Given the description of an element on the screen output the (x, y) to click on. 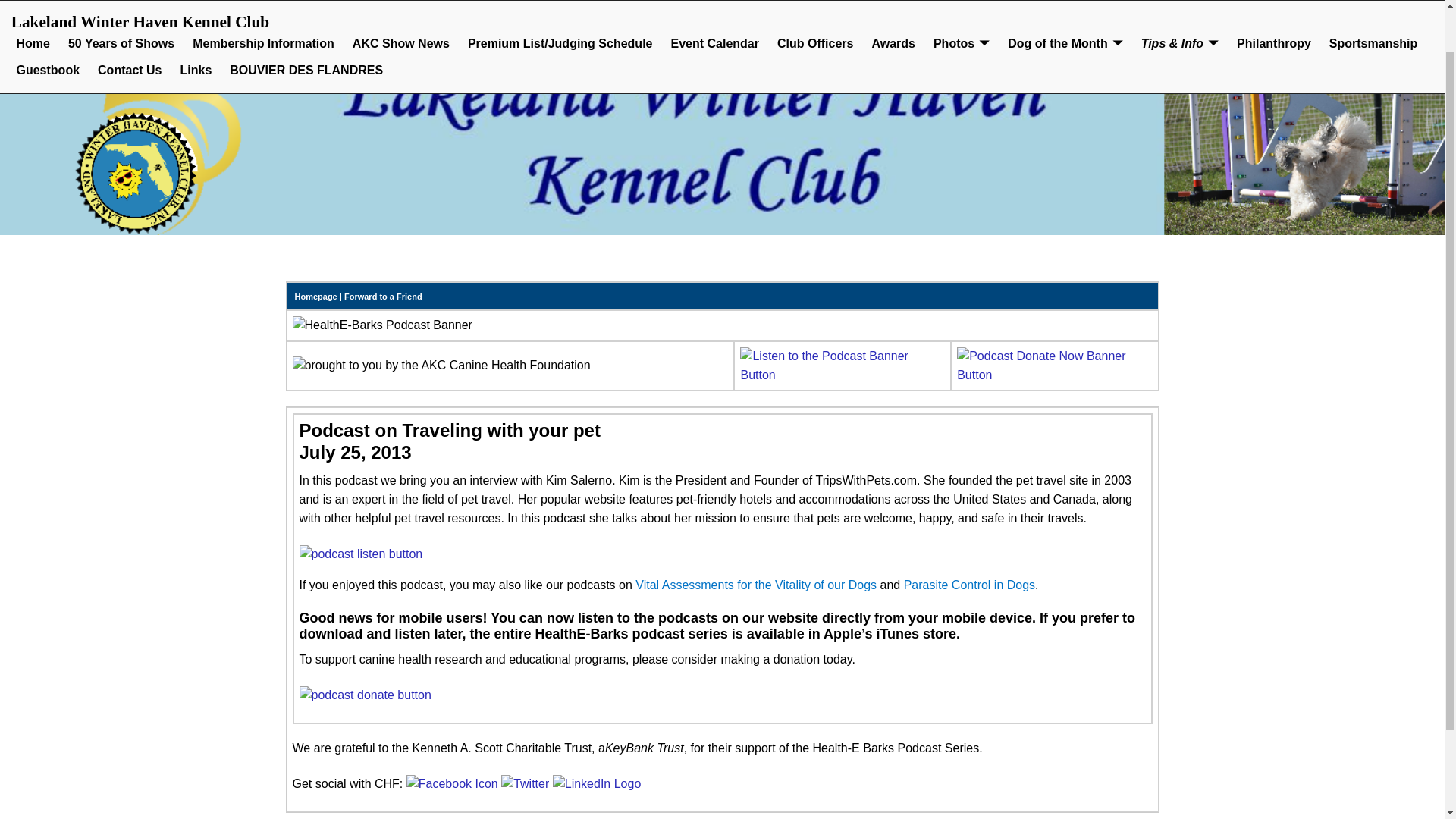
Vital Assessments for the Vitality of our Dogs (755, 584)
AKC Show News (400, 4)
Contact Us (129, 21)
Podcasts (841, 374)
Photos (961, 4)
BOUVIER DES FLANDRES (306, 21)
Home (33, 4)
Awards (892, 4)
Homepage (315, 296)
Philanthropy (1273, 4)
